Given the description of an element on the screen output the (x, y) to click on. 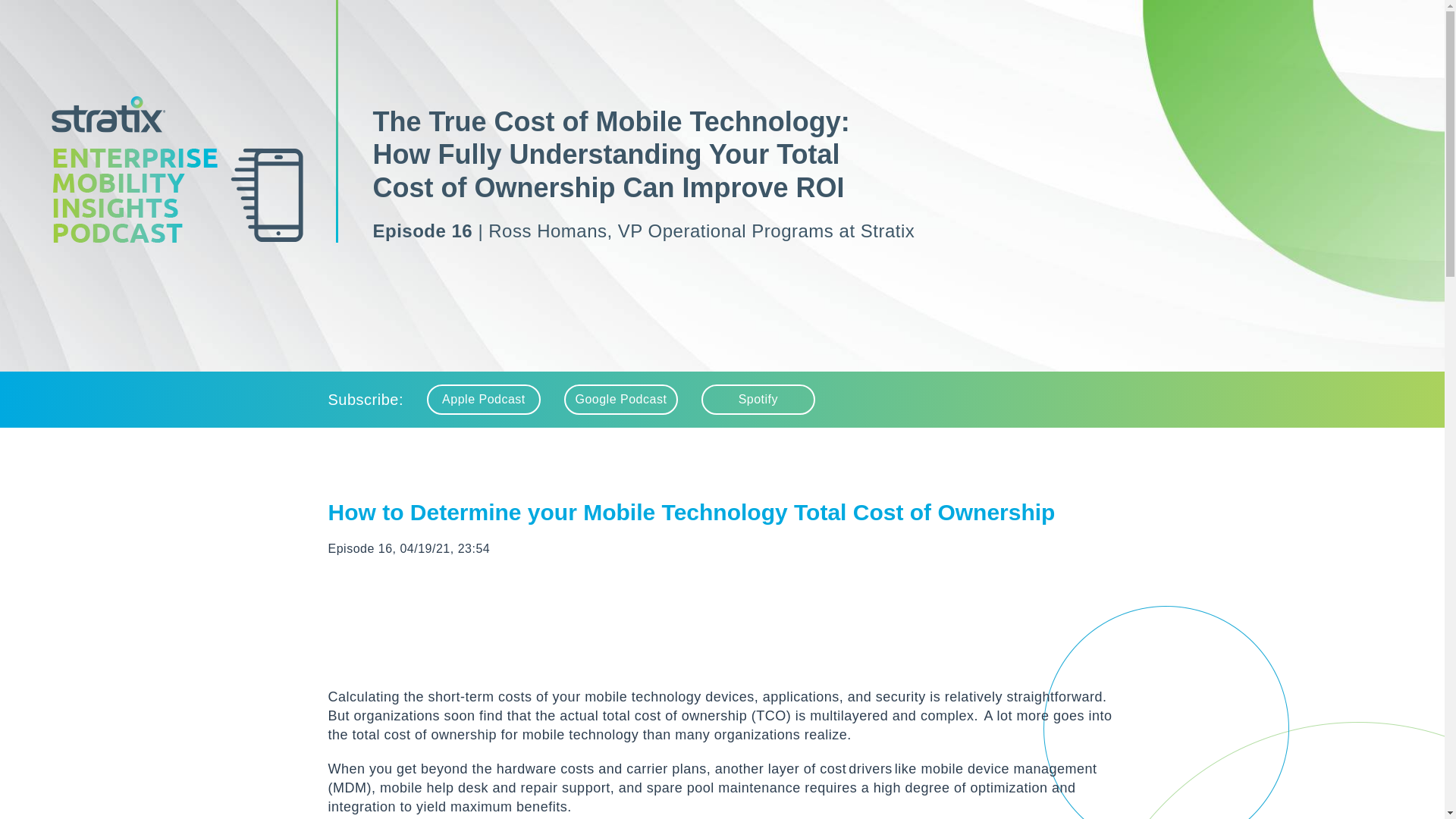
Apple Podcast (483, 399)
Google Podcast (621, 399)
Spotify (758, 399)
